Given the description of an element on the screen output the (x, y) to click on. 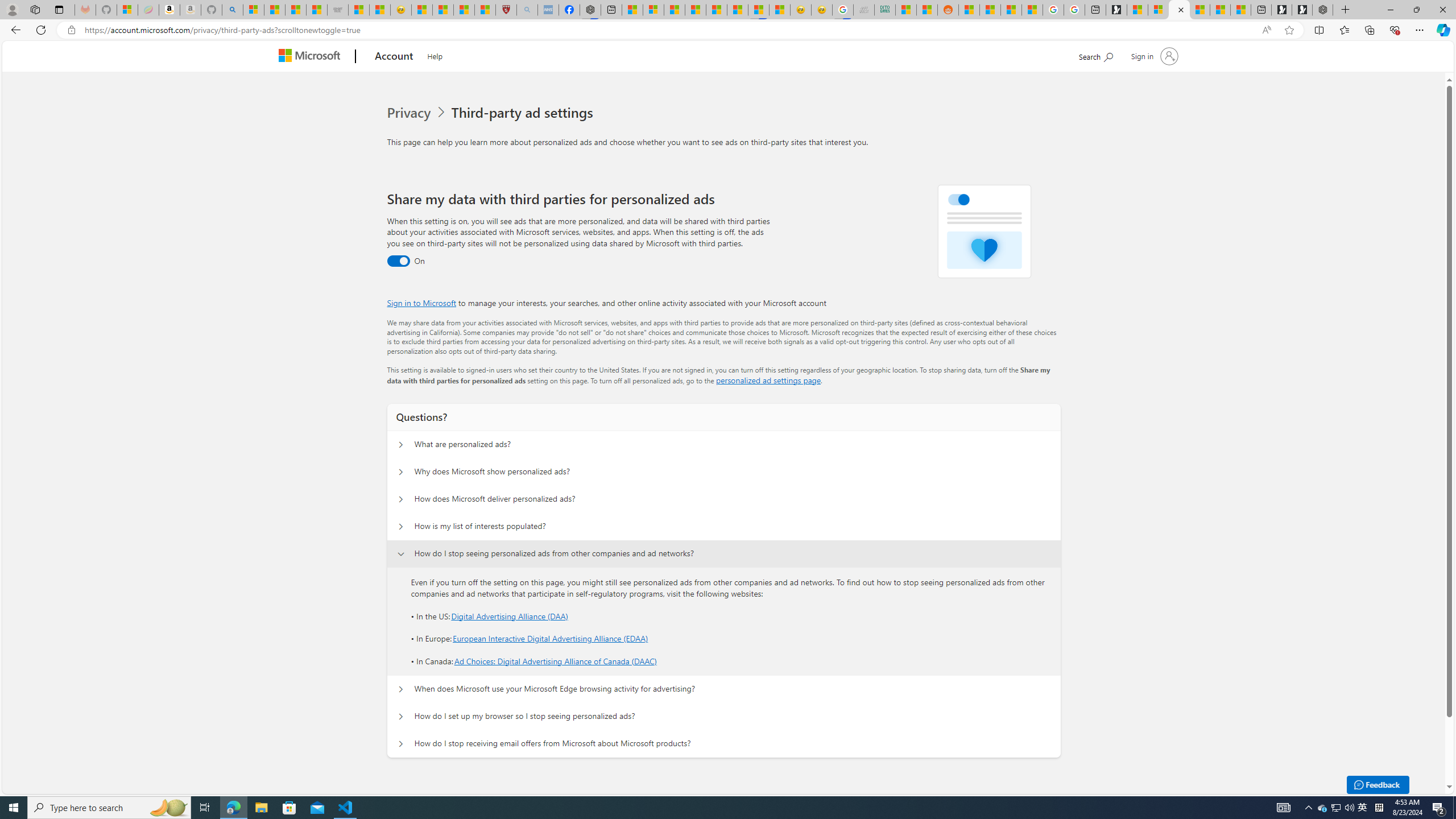
Third party data sharing toggle (398, 260)
Questions? How does Microsoft deliver personalized ads? (401, 499)
Search Microsoft.com (1095, 54)
Help (435, 54)
European Interactive Digital Advertising Alliance (EDAA) (549, 638)
Ad Choices: Digital Advertising Alliance of Canada (DAAC) (555, 660)
